Given the description of an element on the screen output the (x, y) to click on. 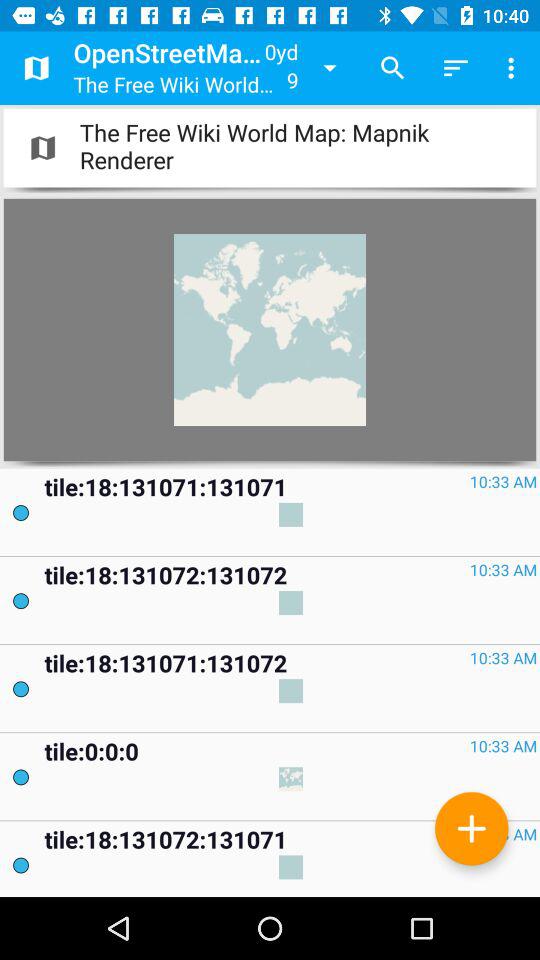
add file (471, 828)
